Given the description of an element on the screen output the (x, y) to click on. 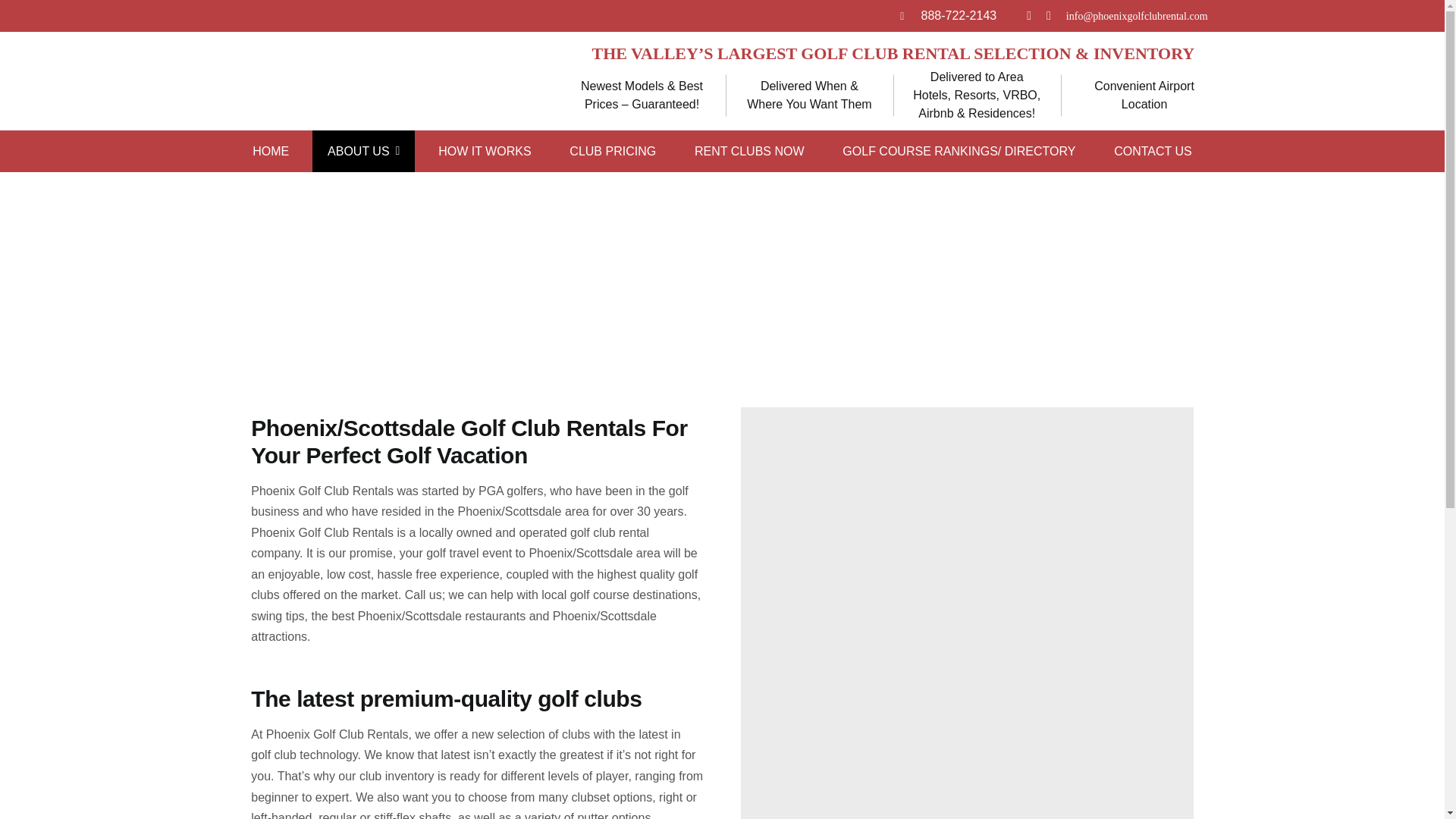
Email (1136, 16)
CONTACT US (1153, 150)
HOW IT WORKS (484, 150)
CLUB PRICING (612, 150)
RENT CLUBS NOW (749, 150)
888-722-2143 (959, 15)
Phoenix Golf Club Rentals (270, 150)
Phoenix Golf Club Rentals Pricing (612, 150)
ABOUT US (363, 150)
